Given the description of an element on the screen output the (x, y) to click on. 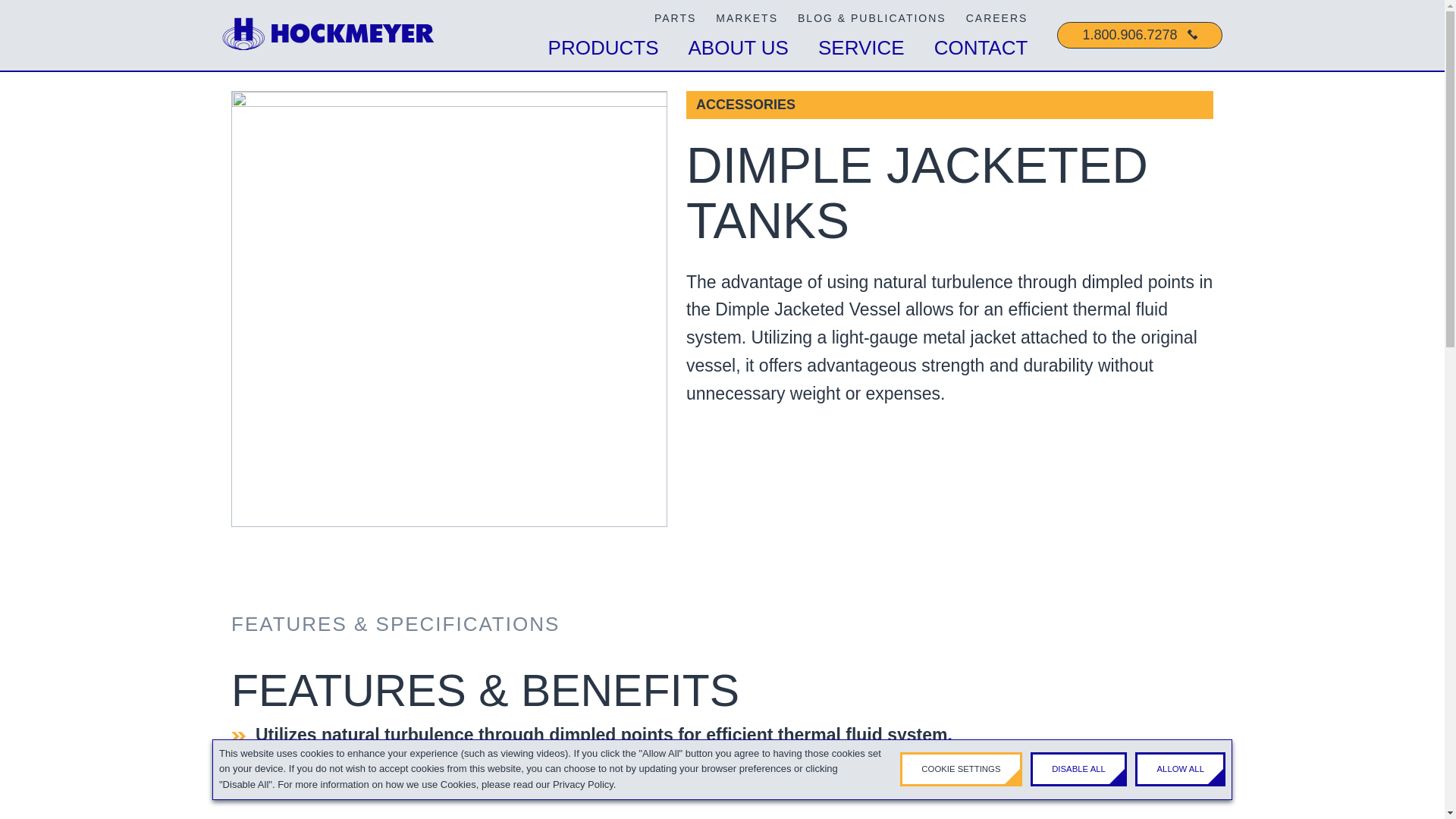
CONTACT (981, 48)
MARKETS (746, 17)
CAREERS (996, 17)
ABOUT US (737, 48)
PARTS (674, 17)
SERVICE (861, 48)
1.800.906.7278 (1140, 34)
PRODUCTS (603, 48)
